Given the description of an element on the screen output the (x, y) to click on. 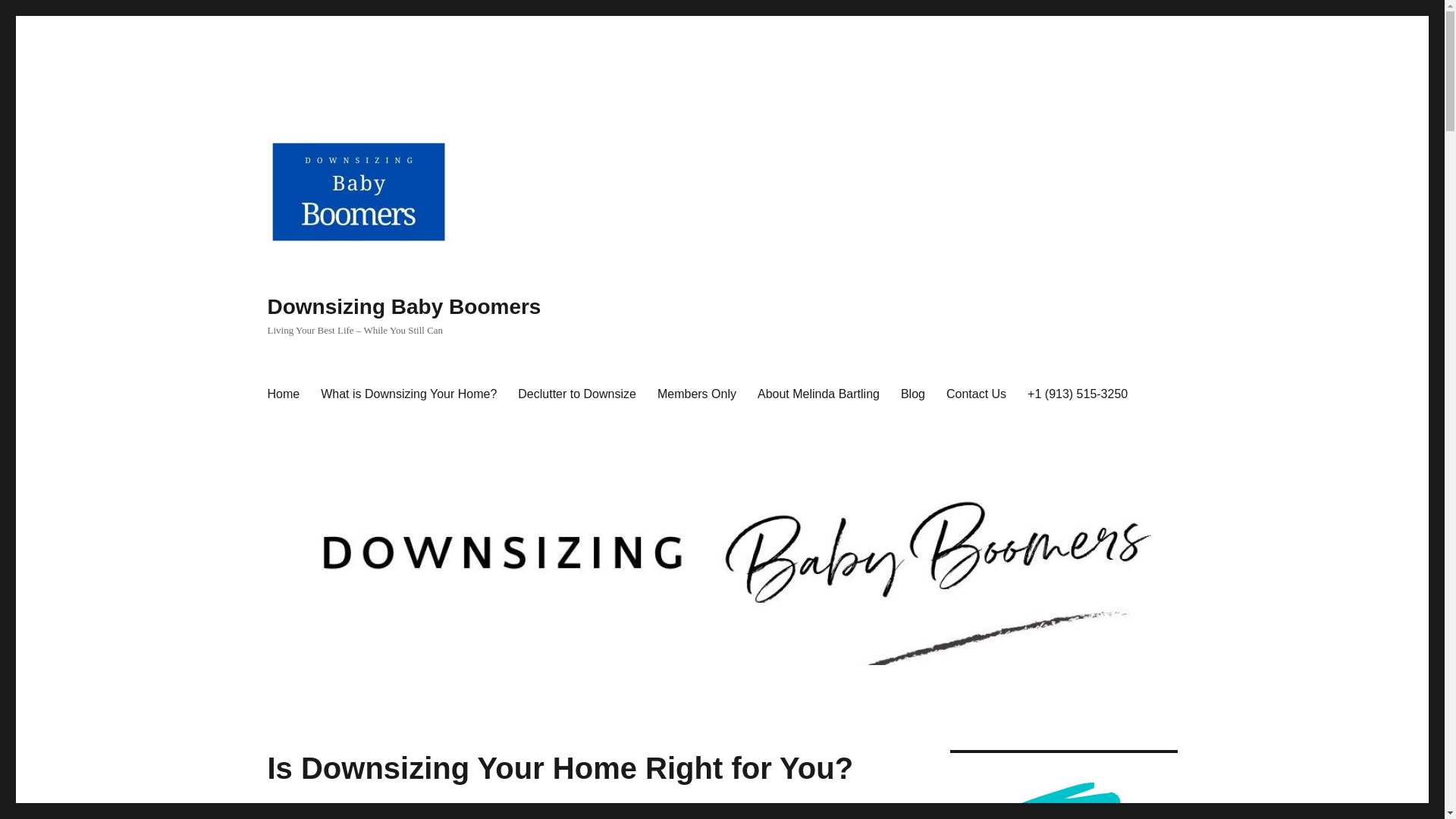
Members Only (696, 394)
About Melinda Bartling (817, 394)
Blog (912, 394)
What is Downsizing Your Home? (408, 394)
Declutter to Downsize (576, 394)
Home (283, 394)
Contact Us (976, 394)
Downsizing Baby Boomers (403, 306)
